Given the description of an element on the screen output the (x, y) to click on. 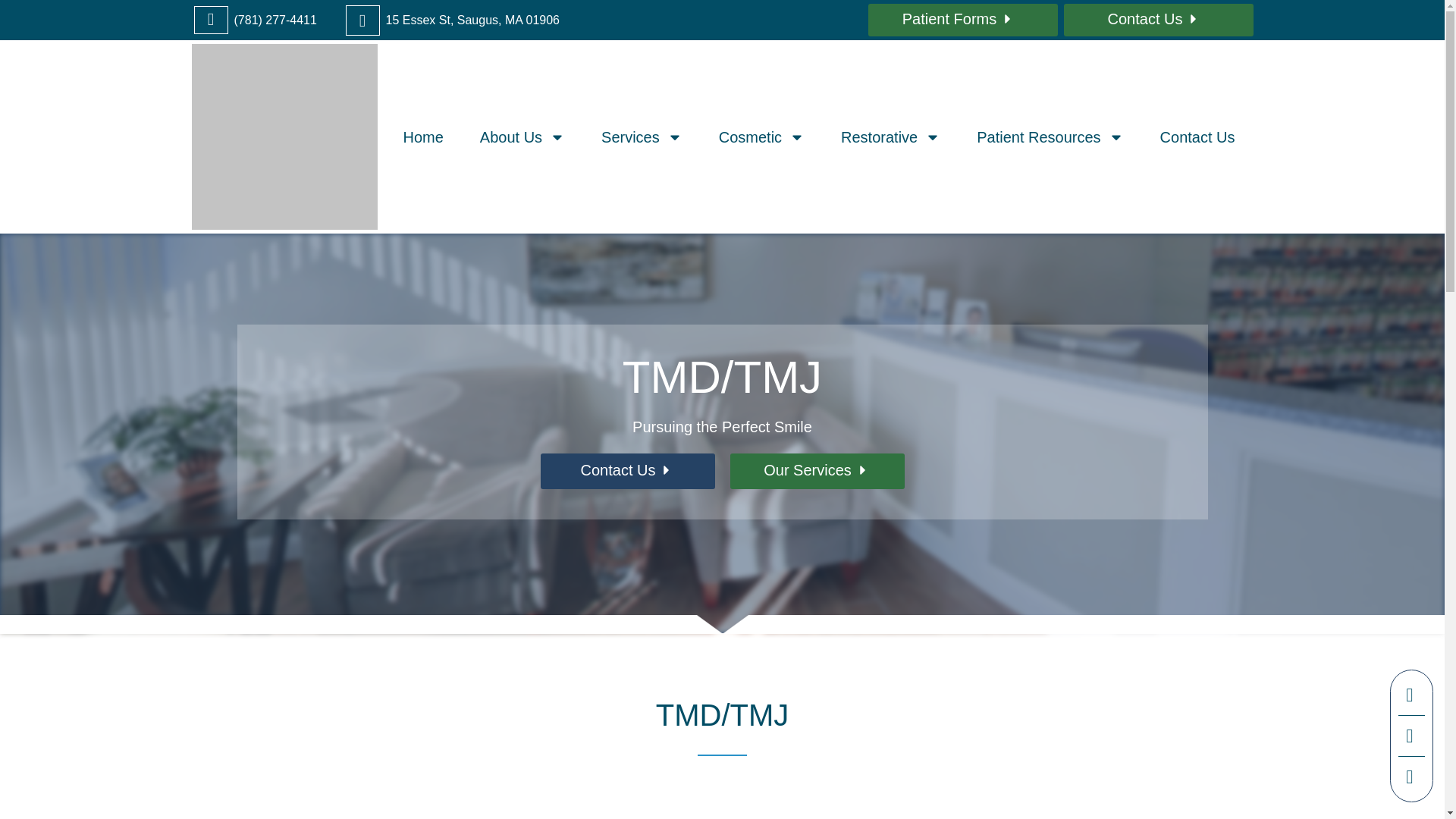
Patient Forms (962, 47)
About Us (522, 136)
15 Essex St, Saugus, MA 01906 (472, 19)
Contact Us (1157, 47)
Cosmetic (761, 136)
Services (641, 136)
Patient Resources (1049, 136)
Home (423, 136)
Restorative (890, 136)
